Given the description of an element on the screen output the (x, y) to click on. 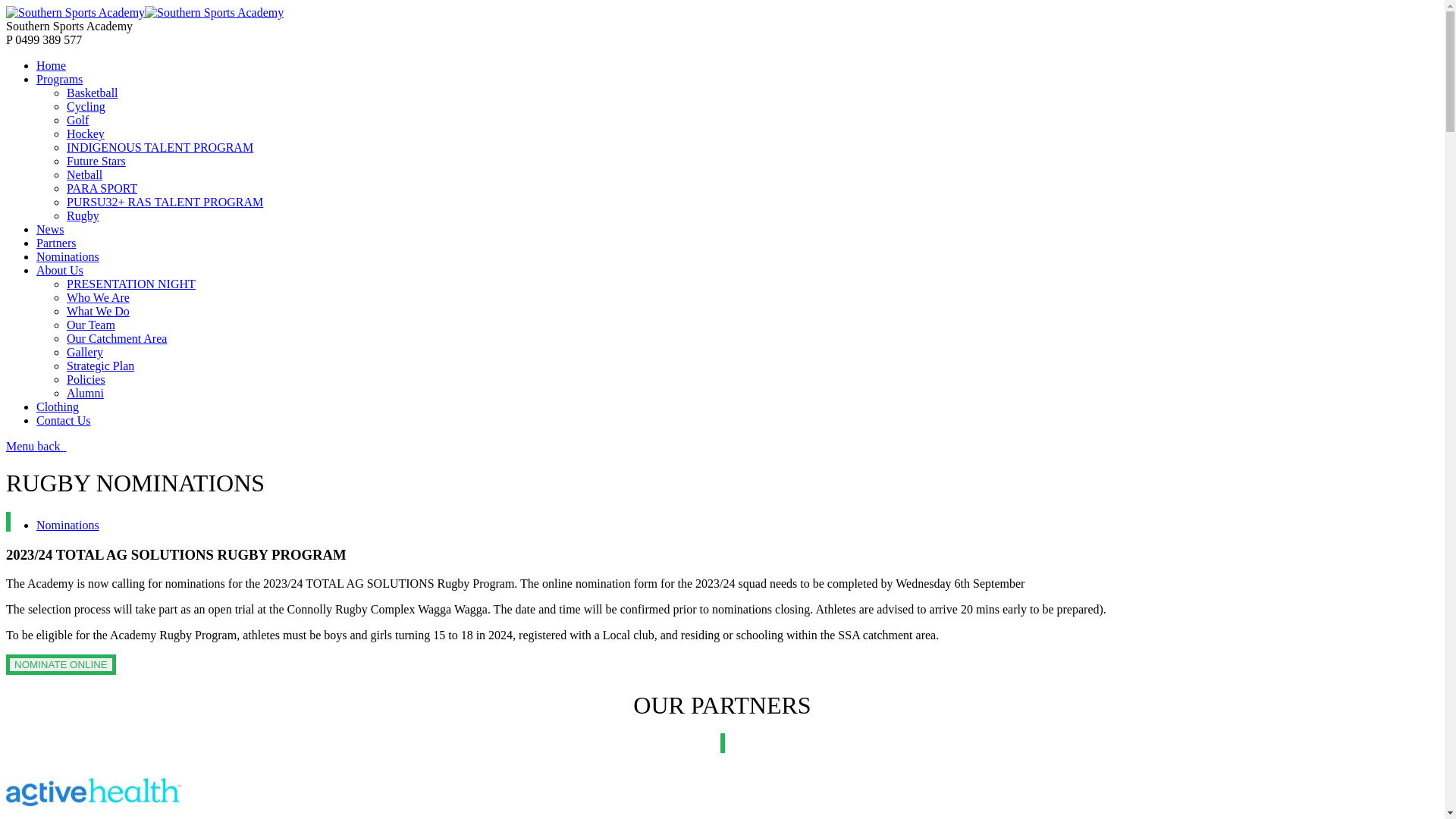
PARA SPORT Element type: text (101, 188)
Nominations Element type: text (67, 524)
INDIGENOUS TALENT PROGRAM Element type: text (159, 147)
PRESENTATION NIGHT Element type: text (130, 283)
Gallery Element type: text (84, 351)
Policies Element type: text (85, 379)
NOMINATE ONLINE Element type: text (61, 664)
Programs Element type: text (59, 78)
Our Catchment Area Element type: text (116, 338)
News Element type: text (49, 228)
Nominations Element type: text (67, 256)
Who We Are Element type: text (97, 297)
Contact Us Element type: text (63, 420)
Clothing Element type: text (57, 406)
Cycling Element type: text (85, 106)
NOMINATE ONLINE Element type: text (61, 663)
Golf Element type: text (77, 119)
Strategic Plan Element type: text (100, 365)
PURSU32+ RAS TALENT PROGRAM Element type: text (164, 201)
Alumni Element type: text (84, 392)
About Us Element type: text (59, 269)
Menu back   Element type: text (36, 445)
Future Stars Element type: text (95, 160)
Hockey Element type: text (85, 133)
Our Team Element type: text (90, 324)
Netball Element type: text (84, 174)
Home Element type: text (50, 65)
Rugby Element type: text (82, 215)
Partners Element type: text (55, 242)
Basketball Element type: text (92, 92)
What We Do Element type: text (97, 310)
